Given the description of an element on the screen output the (x, y) to click on. 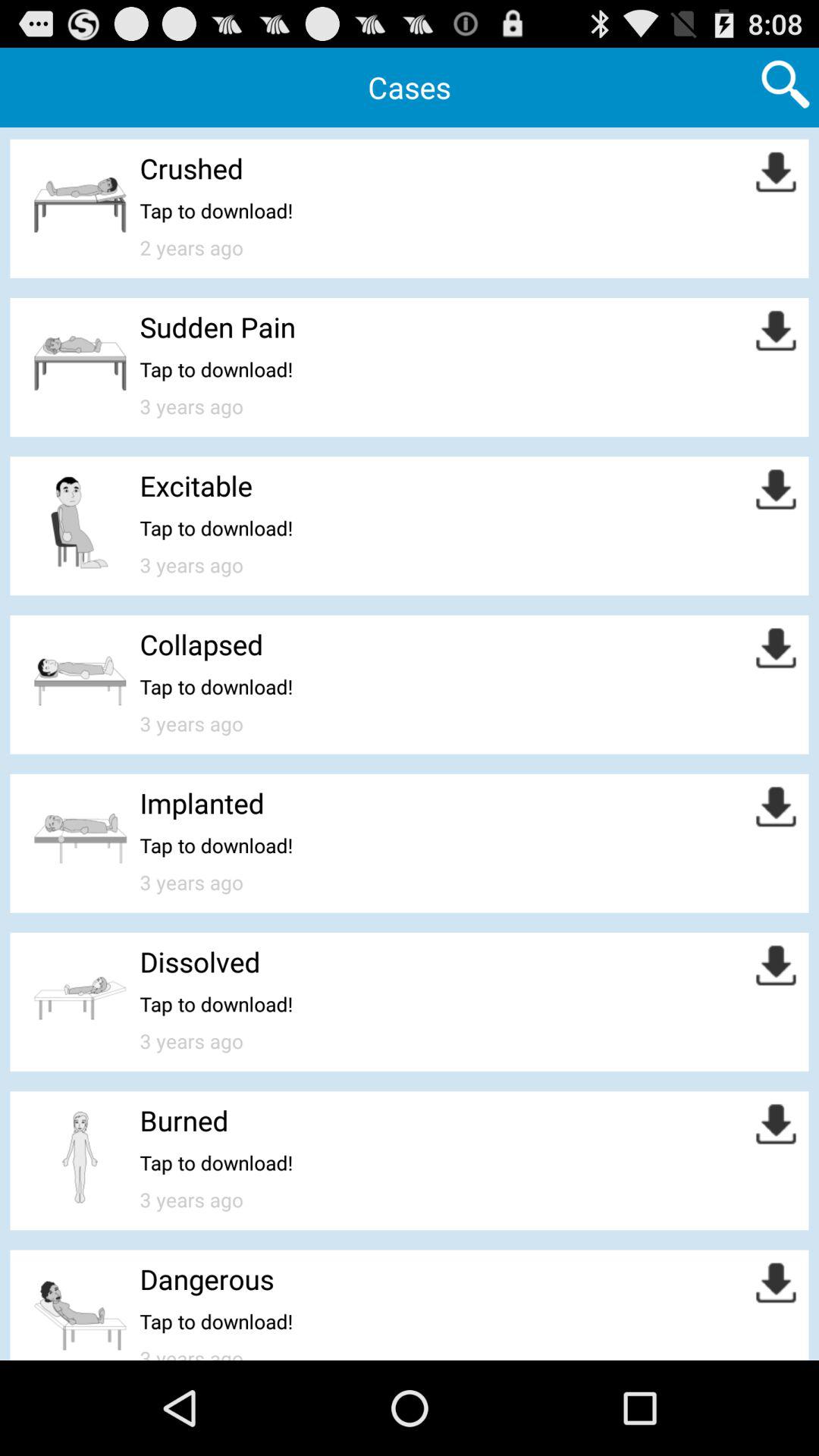
click sudden pain app (217, 326)
